Given the description of an element on the screen output the (x, y) to click on. 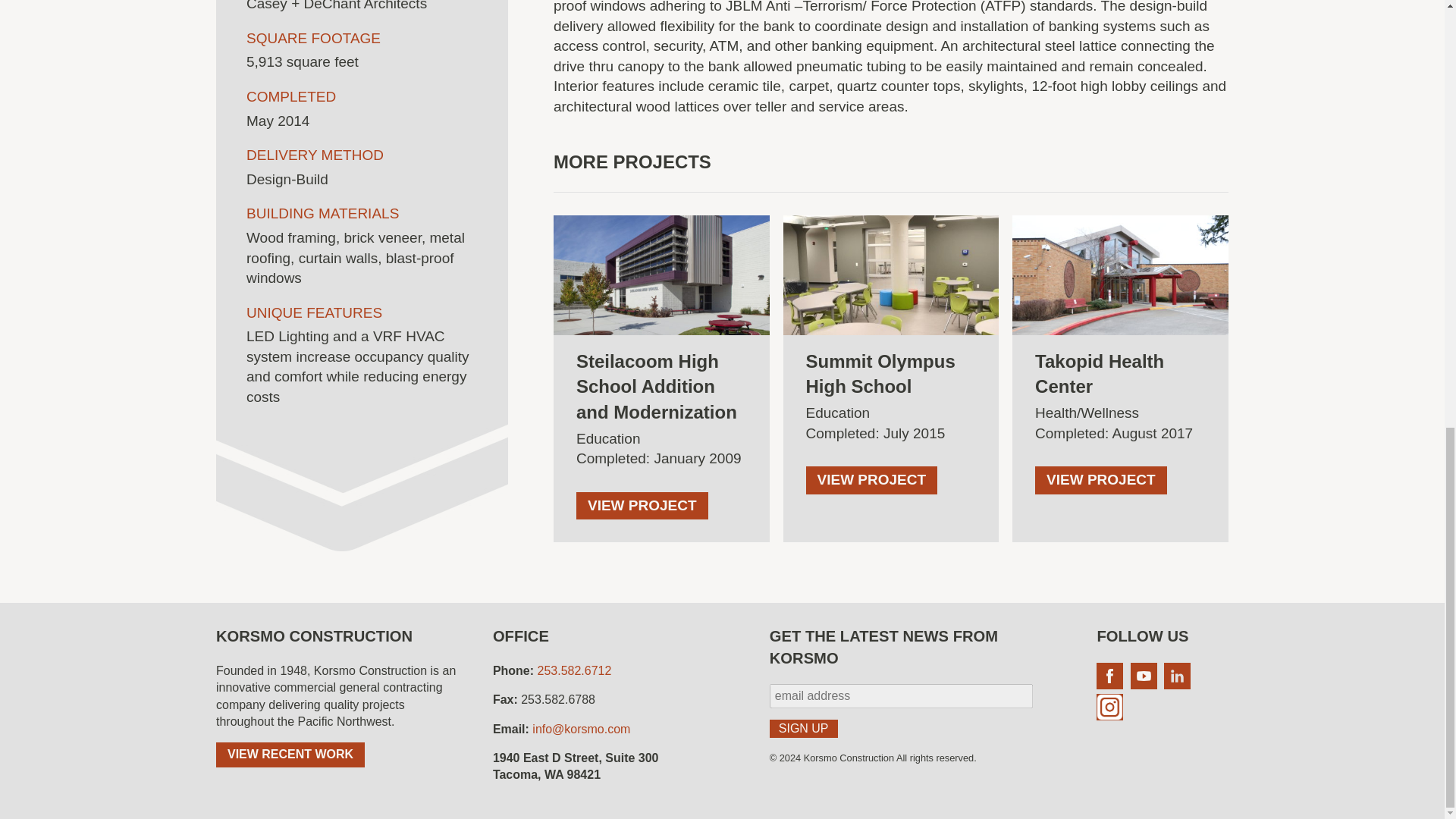
Sign Up (804, 728)
